Given the description of an element on the screen output the (x, y) to click on. 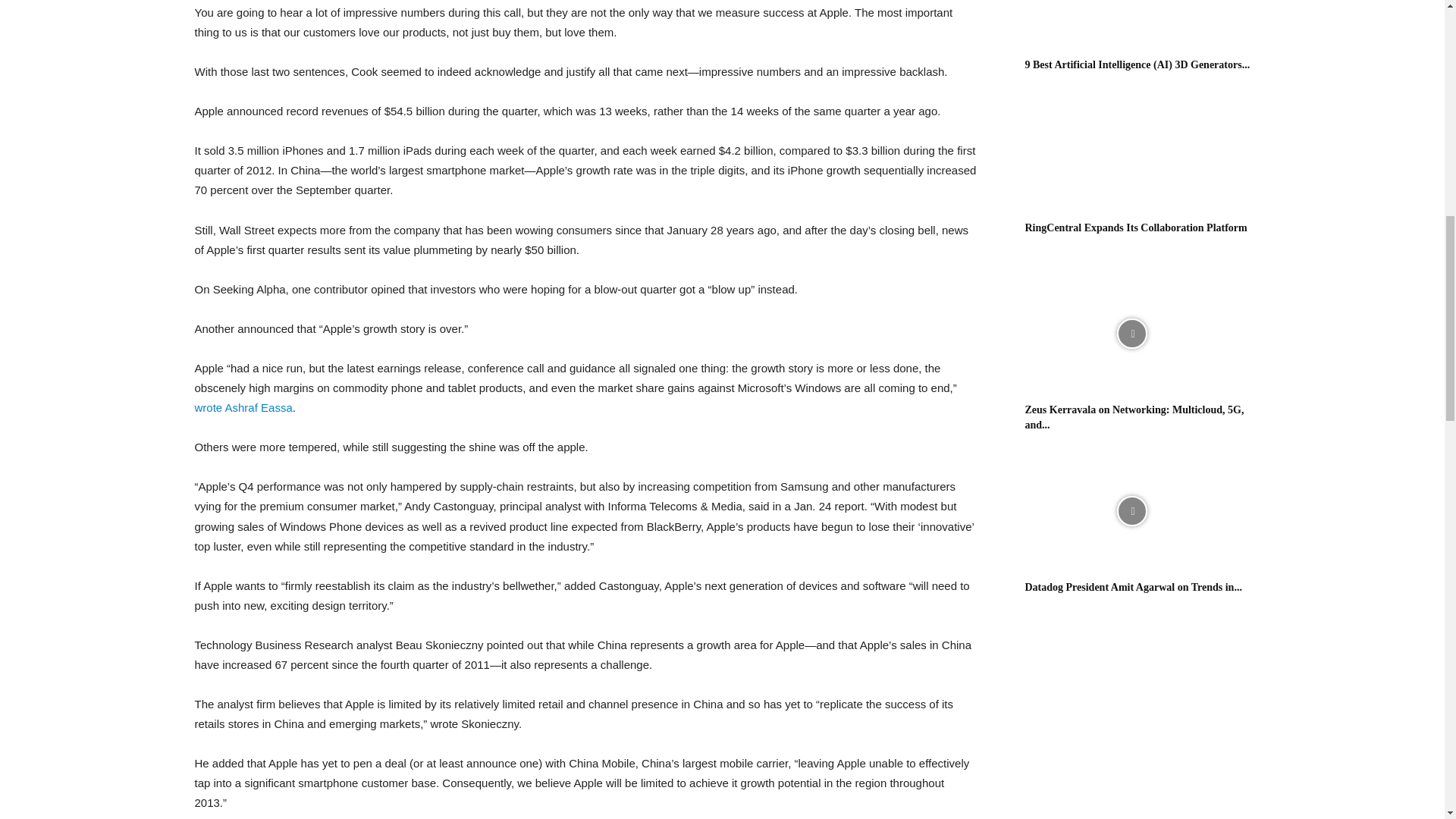
RingCentral Expands Its Collaboration Platform (1131, 151)
RingCentral Expands Its Collaboration Platform (1136, 227)
Zeus Kerravala on Networking: Multicloud, 5G, and Automation (1131, 333)
Zeus Kerravala on Networking: Multicloud, 5G, and Automation (1134, 417)
